Given the description of an element on the screen output the (x, y) to click on. 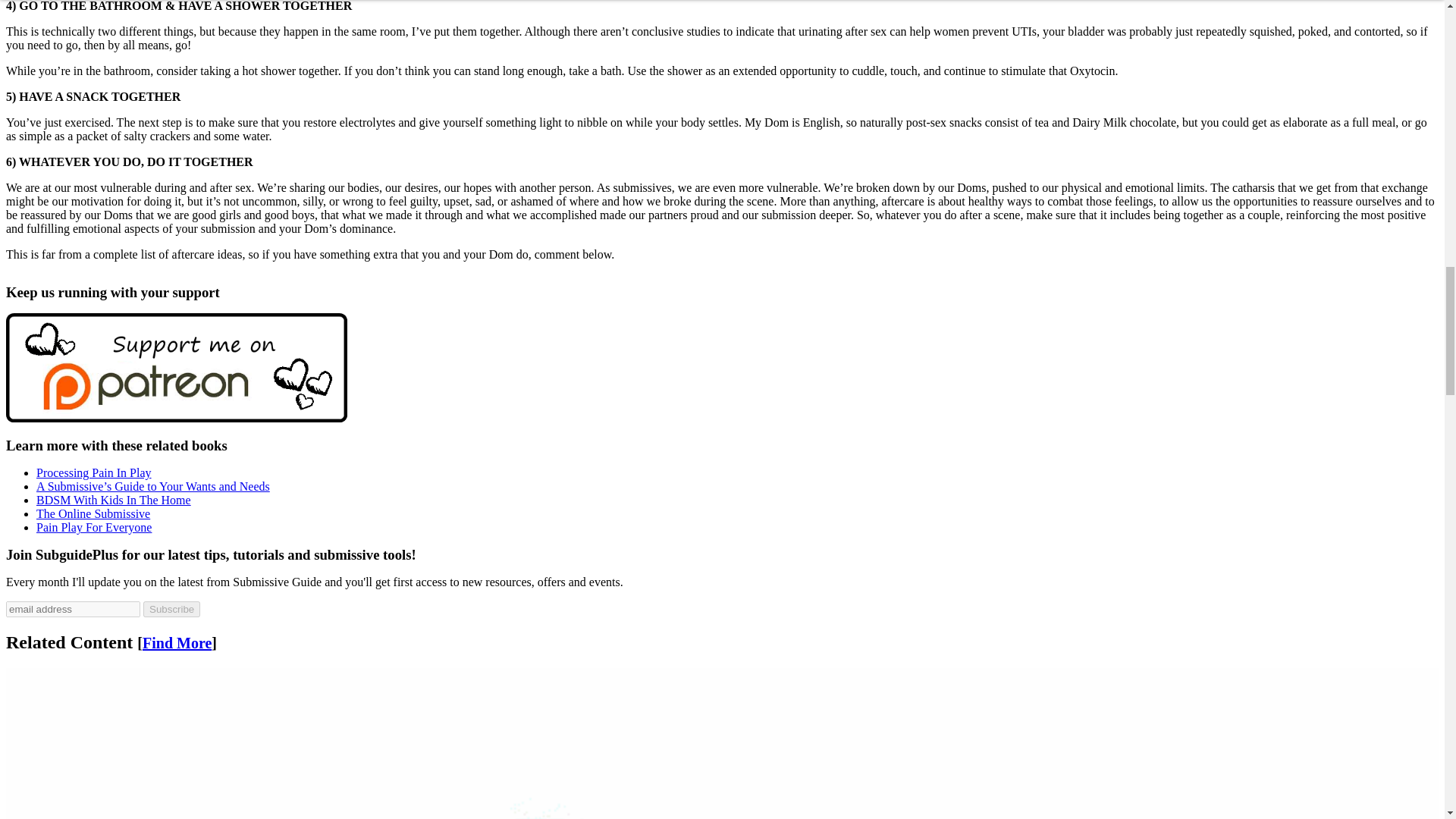
Subscribe (171, 609)
Find More (176, 642)
BDSM With Kids In The Home (113, 499)
Pain Play For Everyone (93, 526)
Processing Pain In Play (93, 472)
The Online Submissive (92, 513)
